Given the description of an element on the screen output the (x, y) to click on. 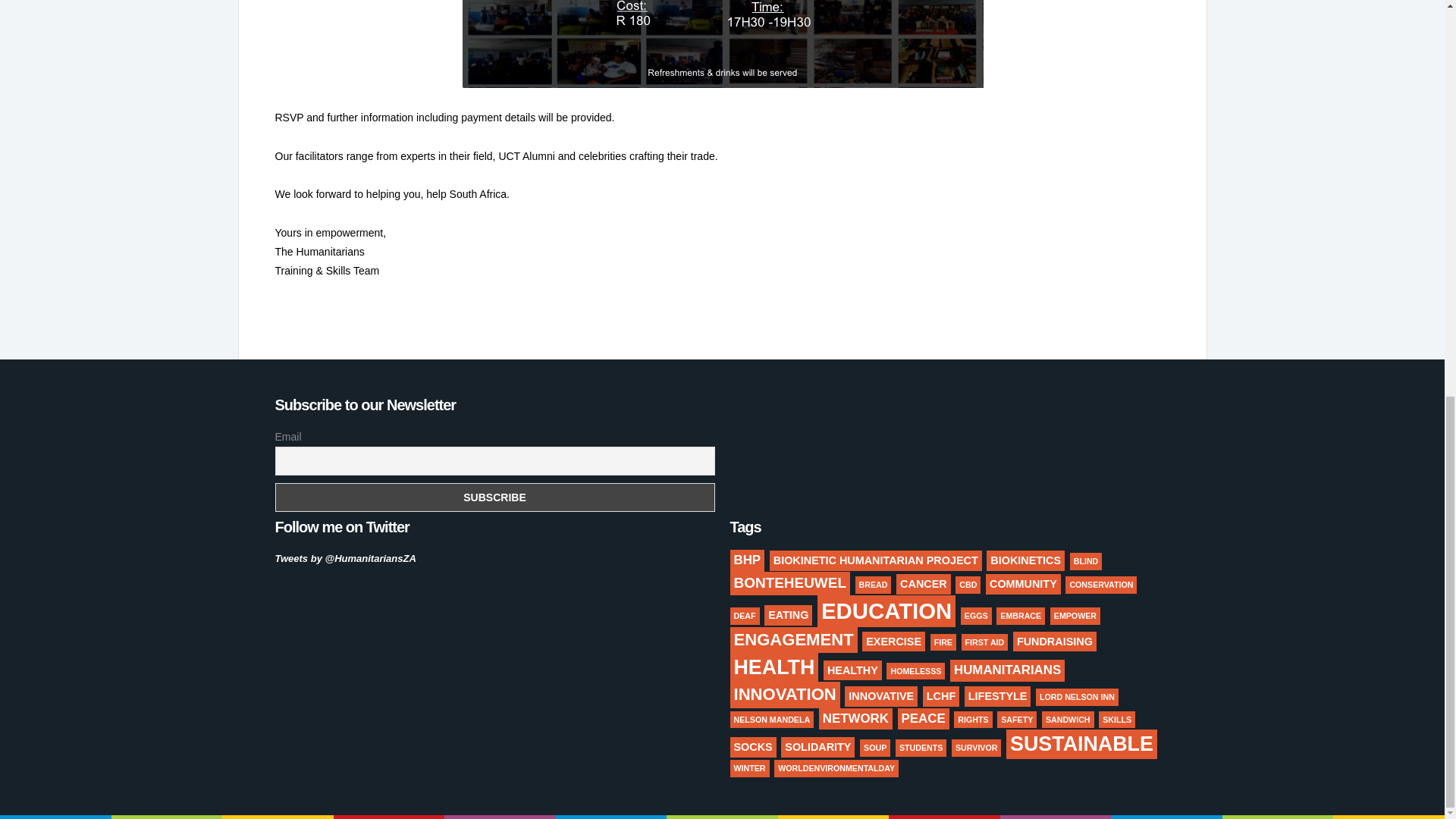
EXERCISE (892, 641)
BIOKINETICS (1025, 560)
BHP (746, 560)
EDUCATION (885, 610)
BIOKINETIC HUMANITARIAN PROJECT (875, 560)
ENGAGEMENT (793, 639)
EGGS (975, 615)
COMMUNITY (1023, 583)
Subscribe (494, 497)
BREAD (873, 584)
